Given the description of an element on the screen output the (x, y) to click on. 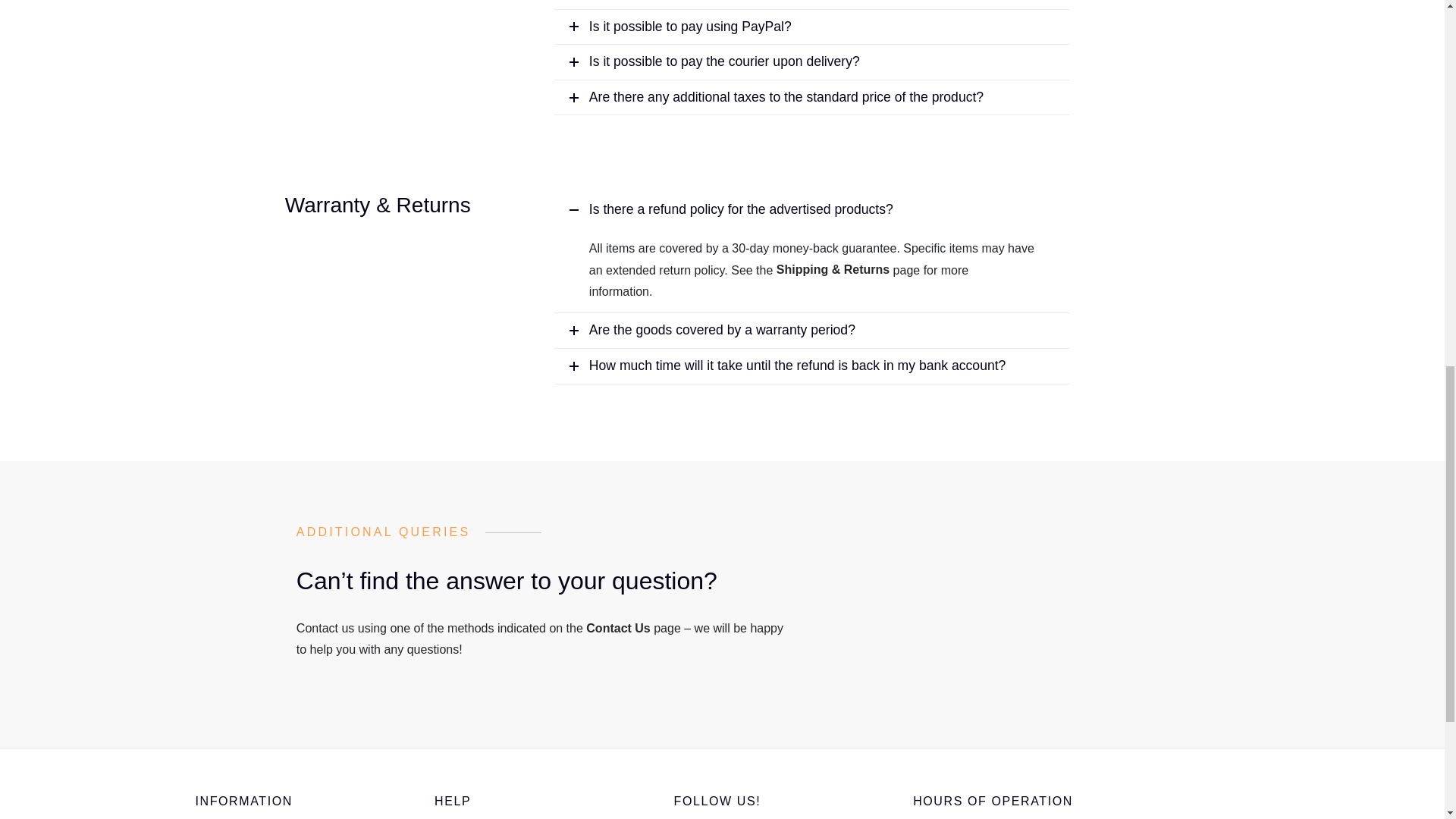
Are the goods covered by a warranty period? (812, 330)
Scroll To Top (1413, 18)
Contact Us (617, 627)
Is it possible to pay using PayPal? (812, 27)
Is there a refund policy for the advertised products? (812, 209)
Is it possible to pay the courier upon delivery? (812, 62)
